Given the description of an element on the screen output the (x, y) to click on. 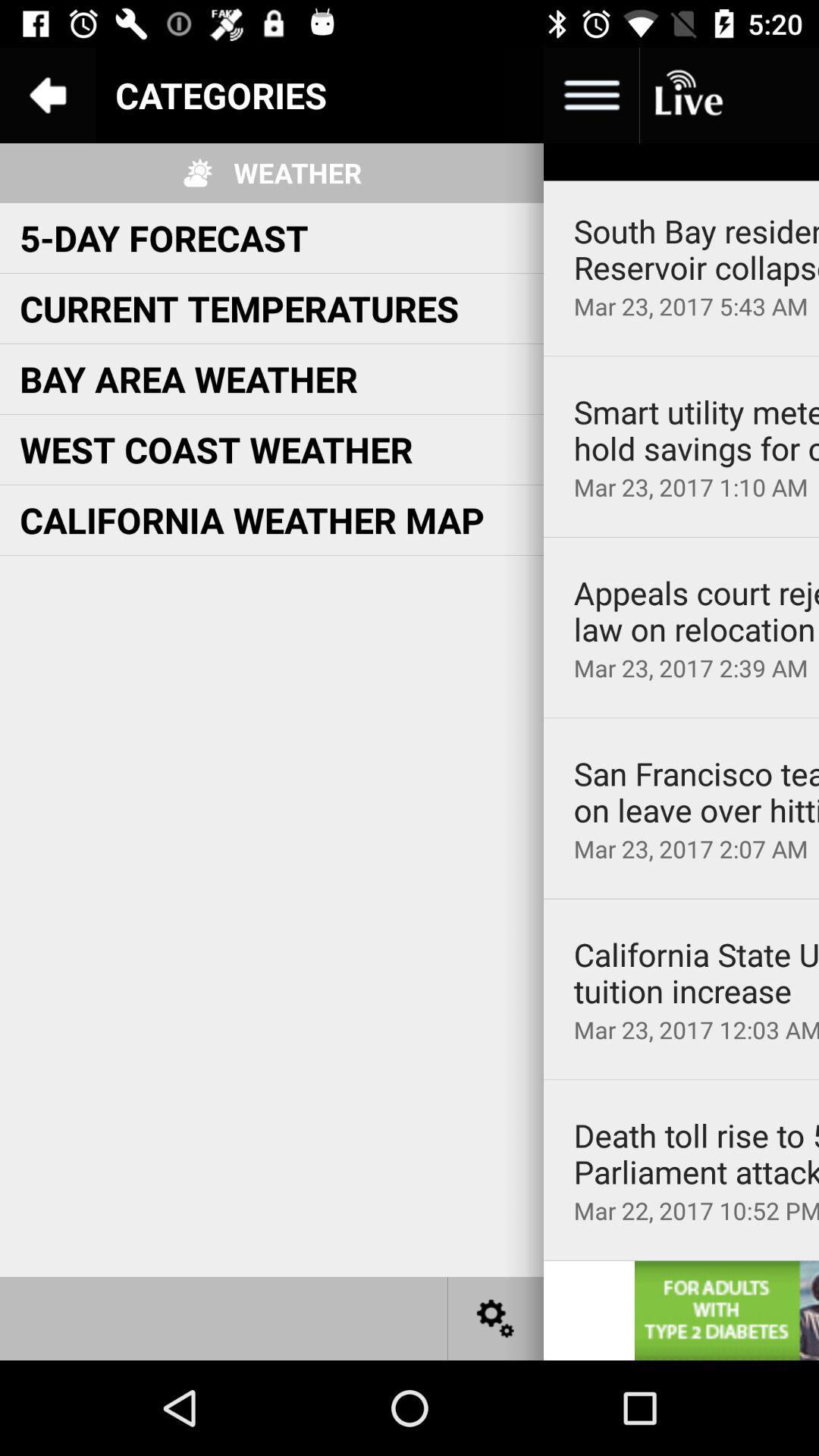
backword to option (47, 95)
